Given the description of an element on the screen output the (x, y) to click on. 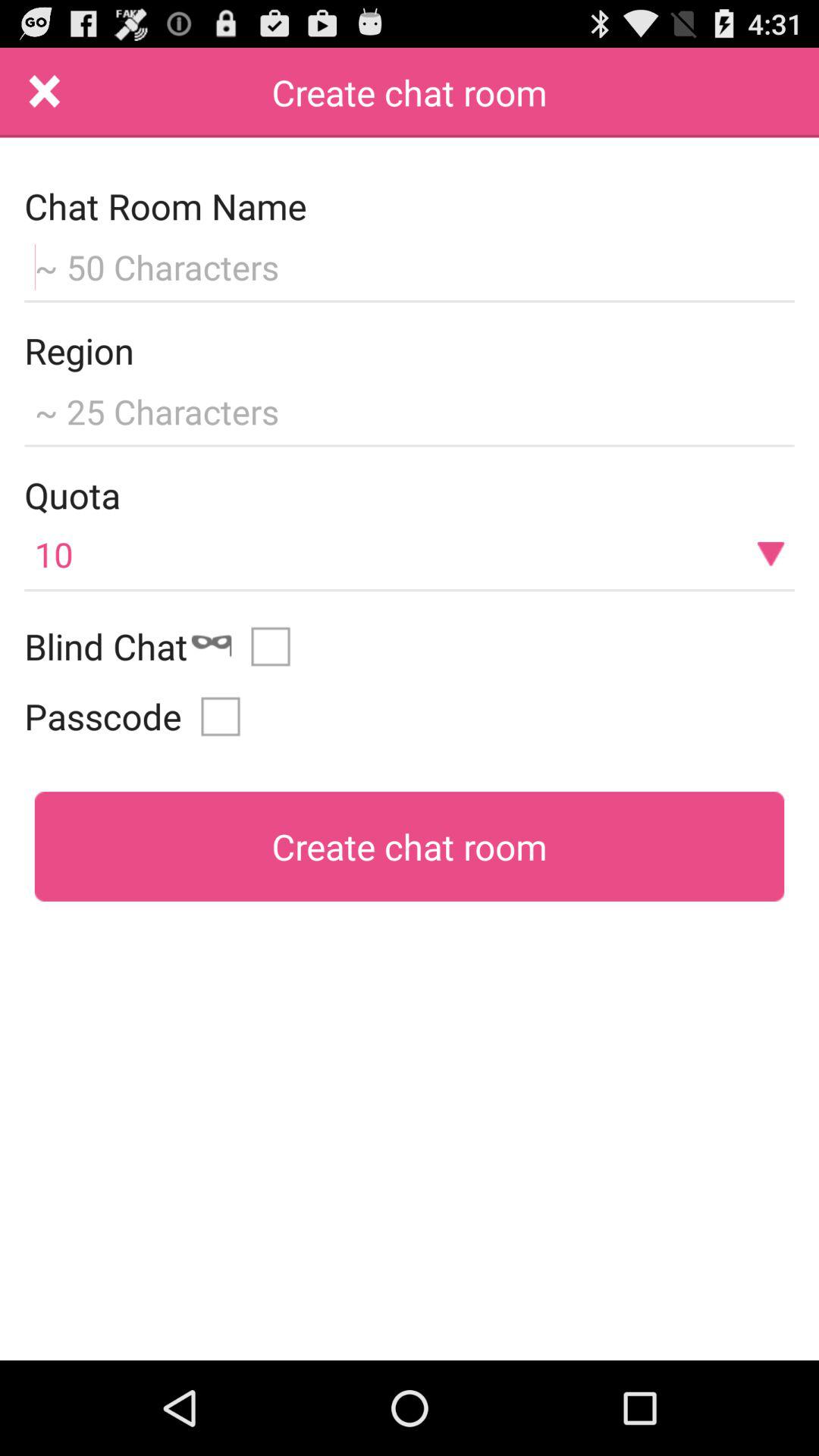
~25characters (409, 409)
